Given the description of an element on the screen output the (x, y) to click on. 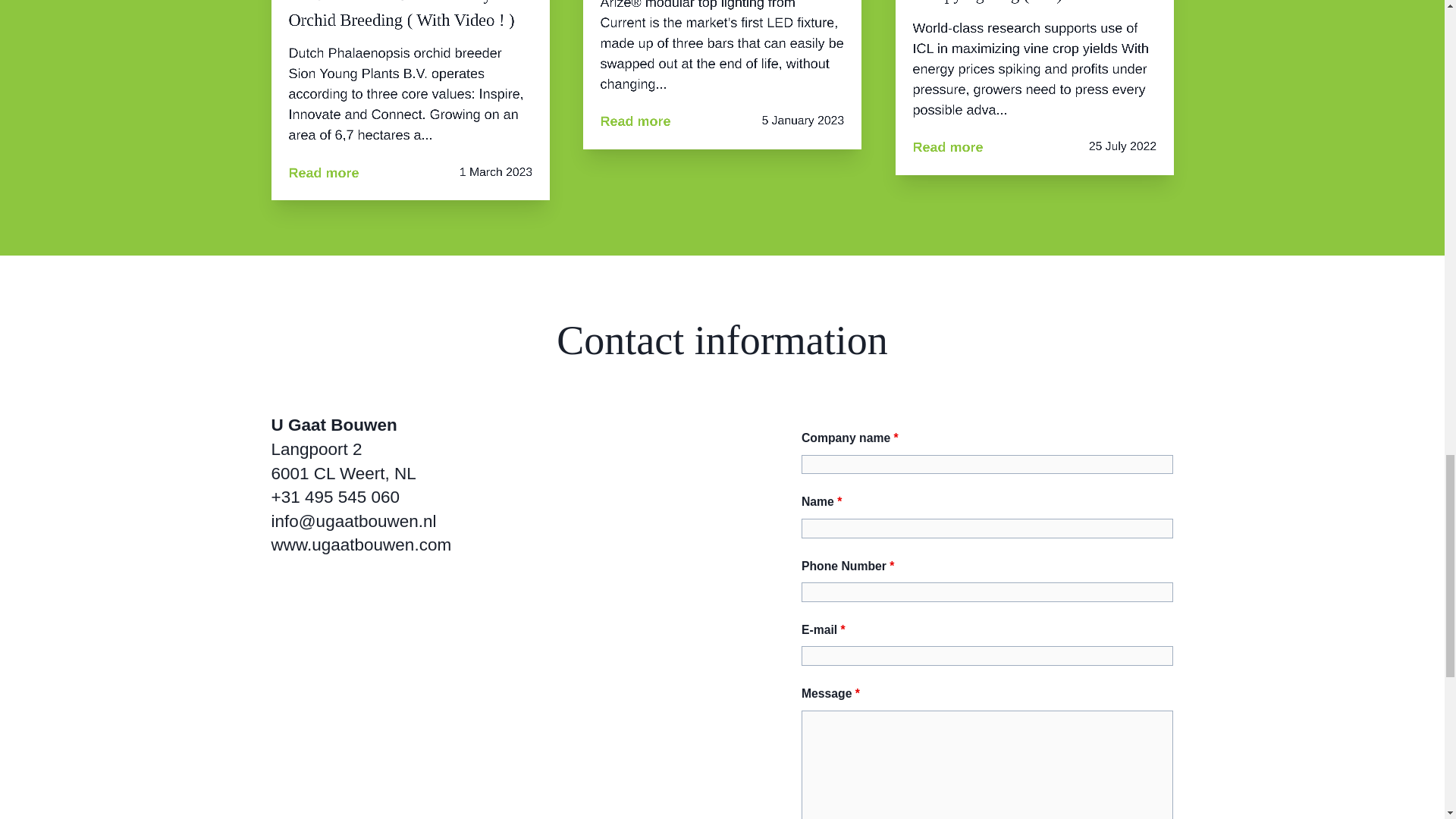
Read more (323, 166)
Read more (635, 119)
Read more (947, 146)
